Given the description of an element on the screen output the (x, y) to click on. 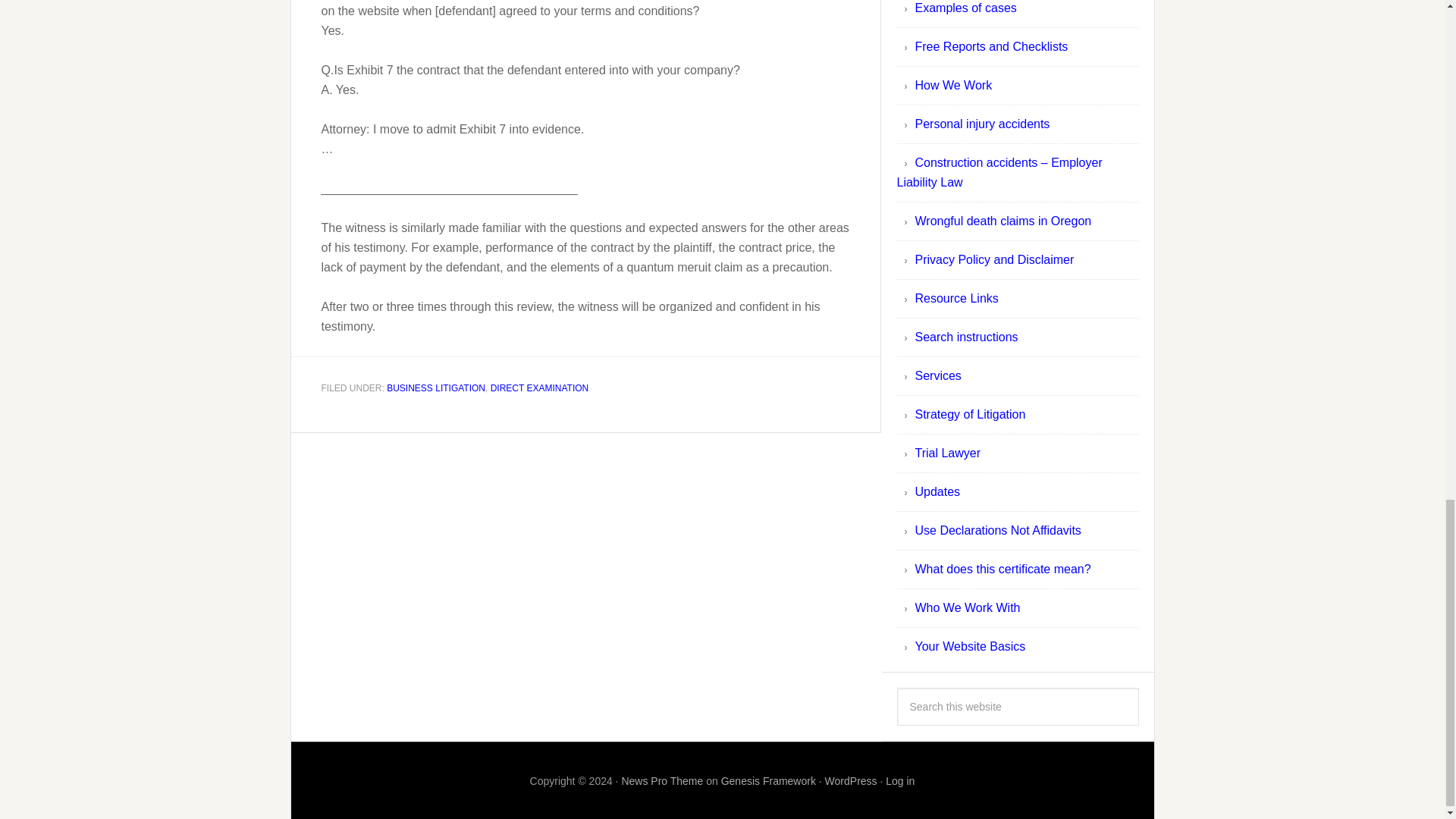
Examples of cases (965, 7)
DIRECT EXAMINATION (539, 388)
Resource Links (955, 297)
Free Reports and Checklists (990, 46)
Privacy Policy and Disclaimer (994, 259)
How We Work (952, 84)
Personal injury accidents (981, 123)
Wrongful death claims in Oregon (1002, 220)
